Given the description of an element on the screen output the (x, y) to click on. 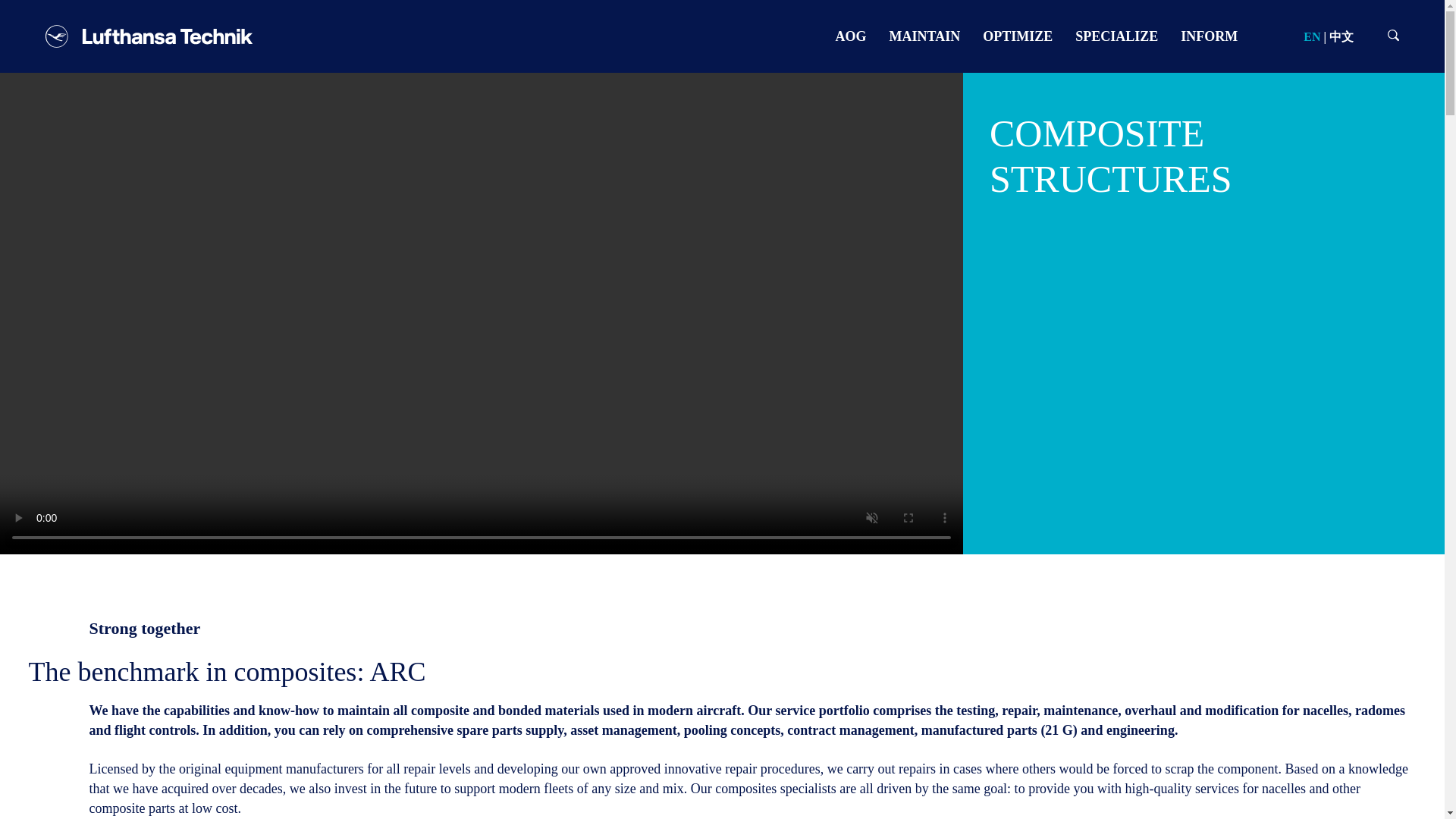
EN (1311, 36)
